Given the description of an element on the screen output the (x, y) to click on. 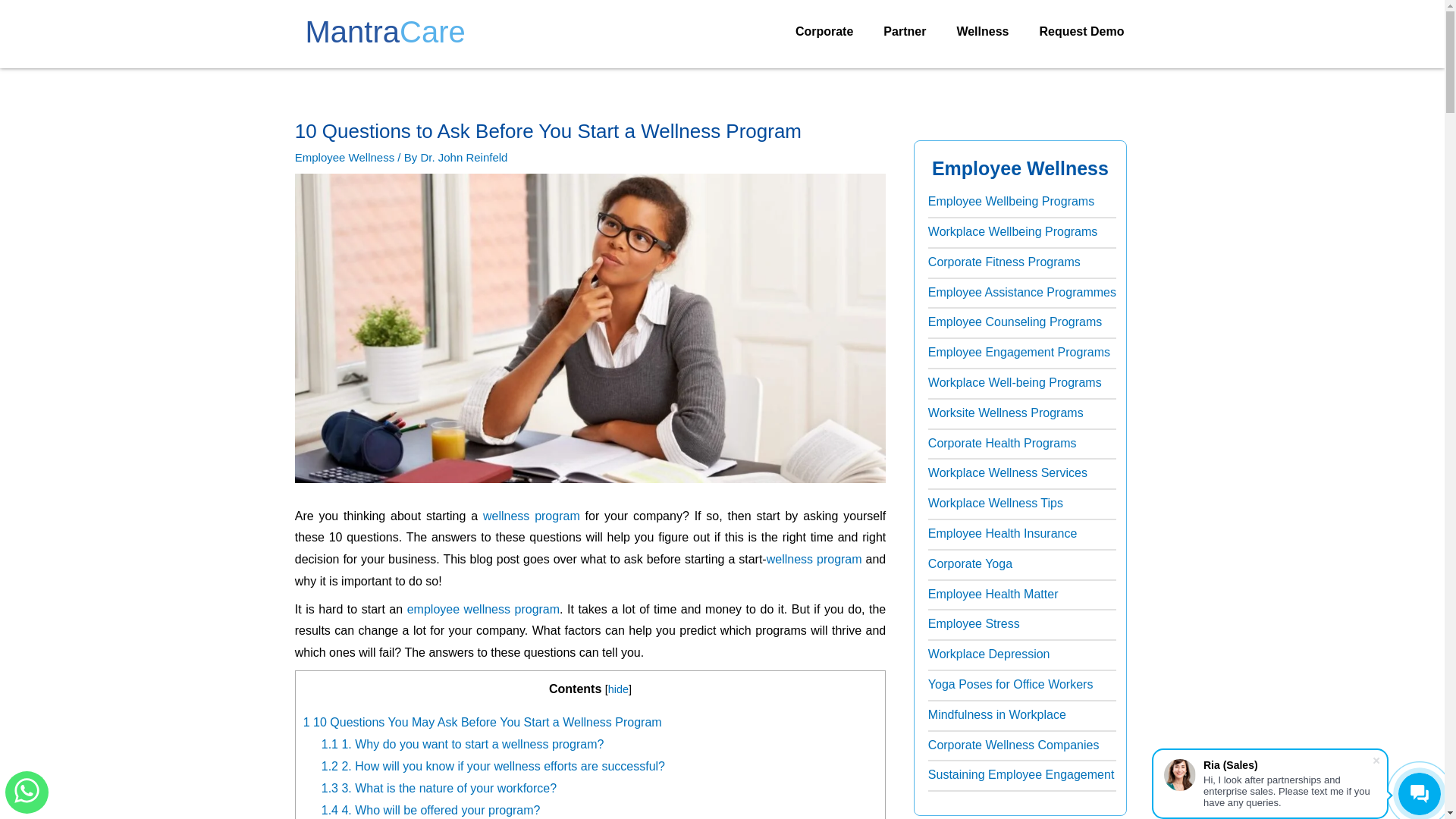
Request Demo (1080, 31)
Partner (903, 31)
Wellness (981, 31)
wellness program (814, 558)
View all posts by Dr. John Reinfeld (463, 156)
Corporate (823, 31)
MantraCare (384, 31)
